Given the description of an element on the screen output the (x, y) to click on. 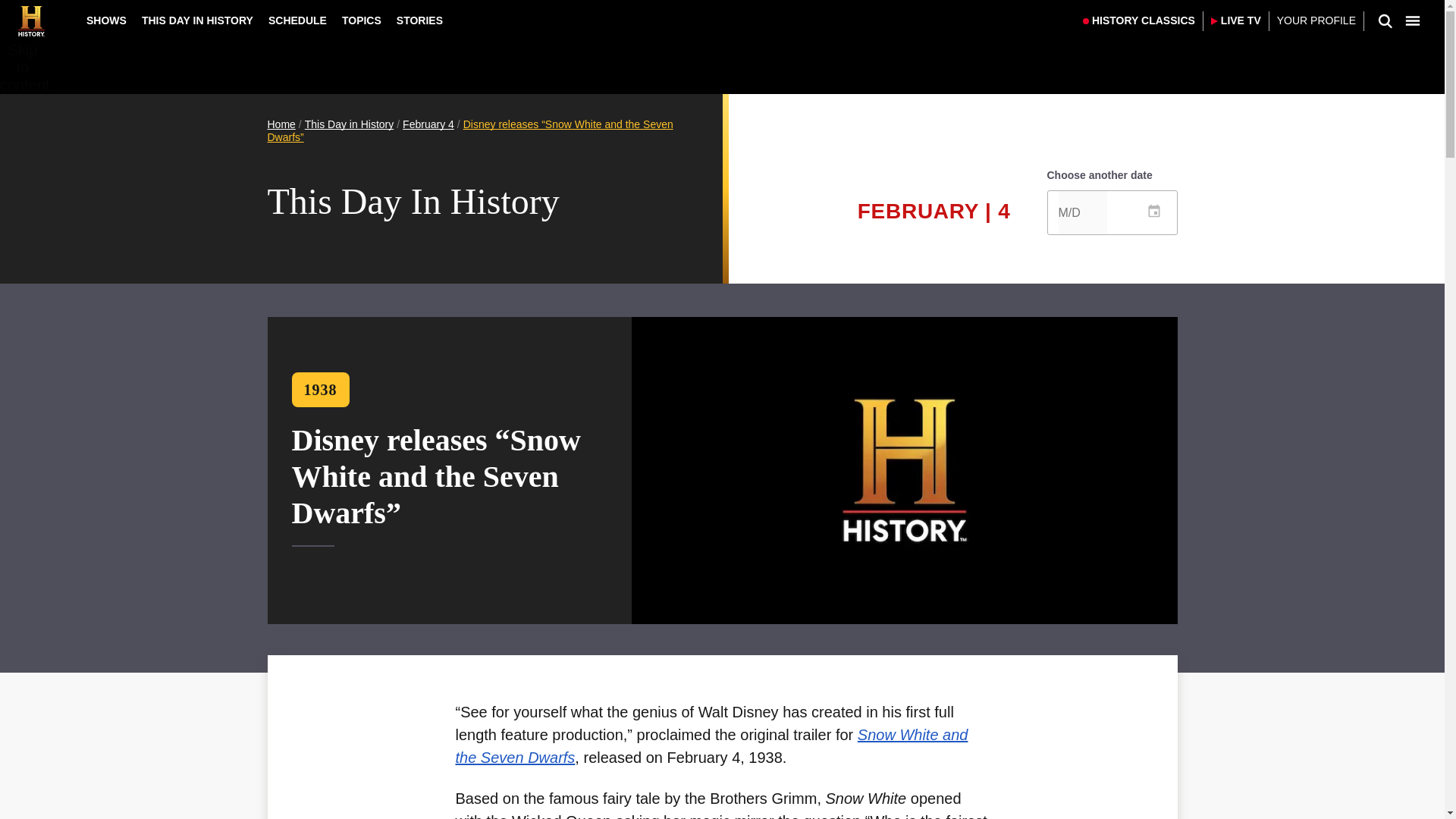
TOPICS (361, 20)
SHOWS (105, 20)
This Day in History (348, 123)
February 4 (428, 123)
THIS DAY IN HISTORY (196, 20)
SCHEDULE (297, 20)
HISTORY CLASSICS (1138, 20)
Skip to content (22, 67)
LIVE TV (1236, 20)
YOUR PROFILE (1315, 21)
Home (280, 123)
STORIES (418, 20)
